Given the description of an element on the screen output the (x, y) to click on. 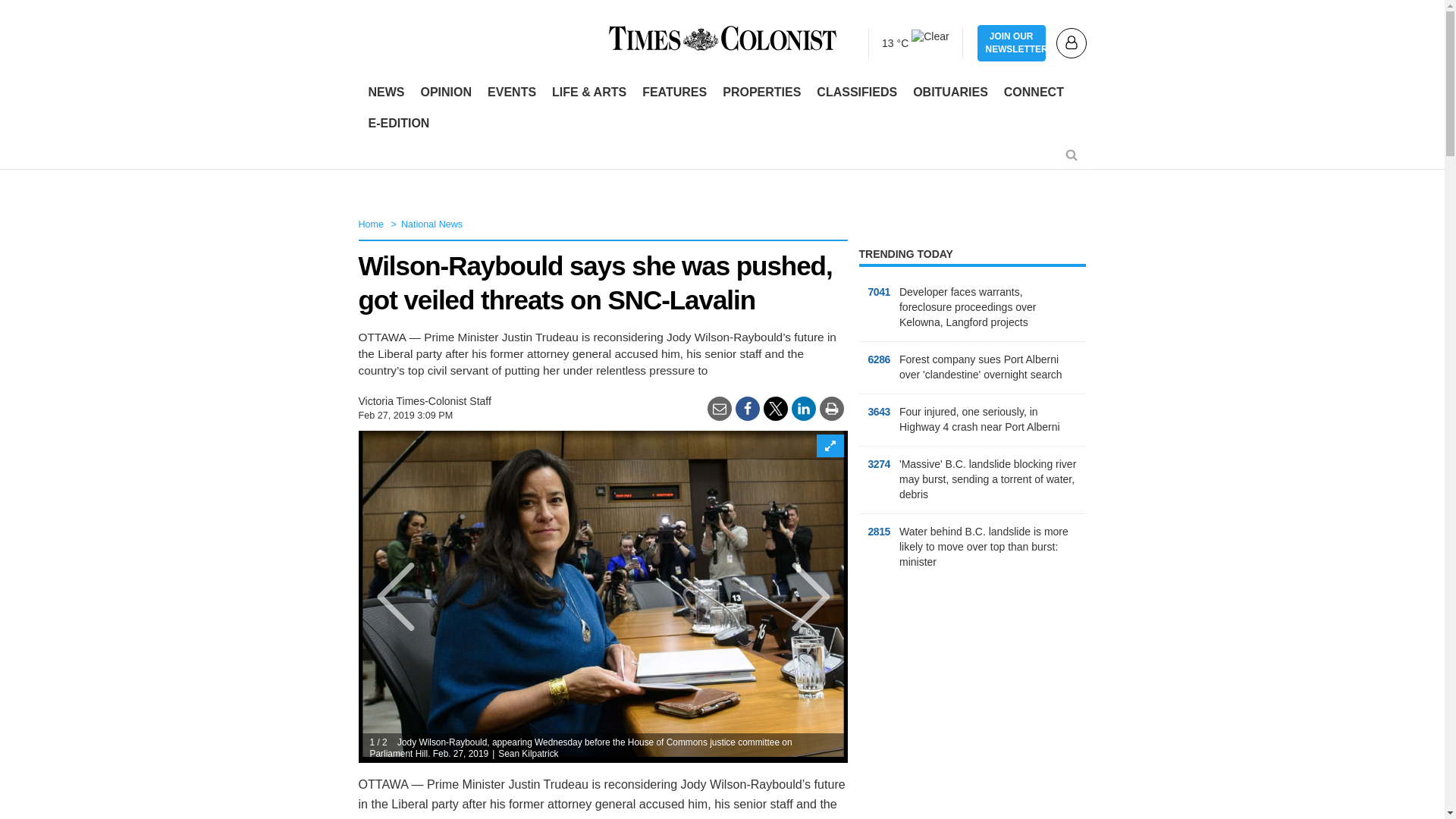
OPINION (445, 92)
Expand (829, 445)
EVENTS (511, 92)
NEWS (386, 92)
JOIN OUR NEWSLETTER (1010, 43)
